Given the description of an element on the screen output the (x, y) to click on. 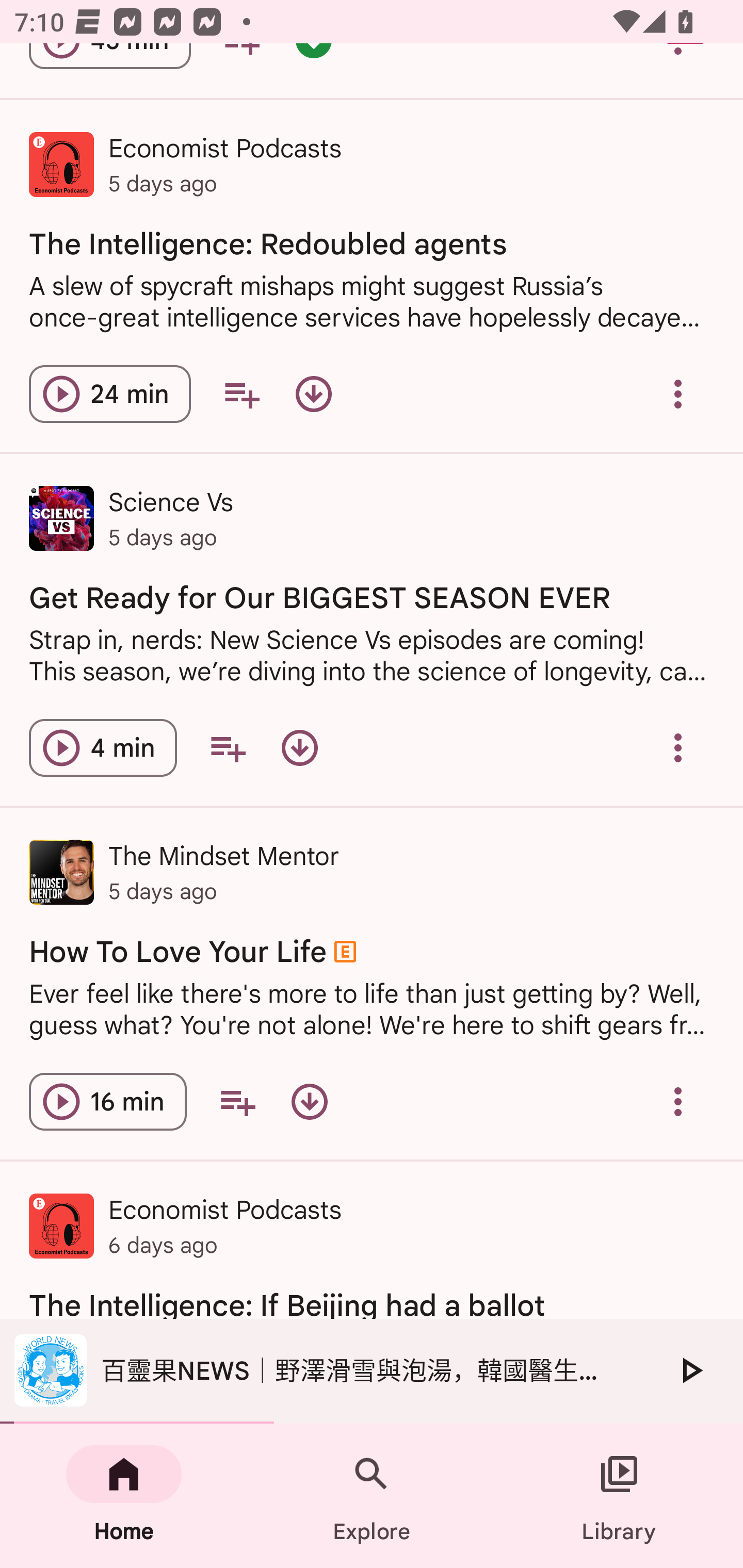
Add to your queue (241, 394)
Download episode (313, 394)
Overflow menu (677, 394)
Add to your queue (227, 747)
Download episode (299, 747)
Overflow menu (677, 747)
Play episode How To Love Your Life 16 min (107, 1101)
Add to your queue (237, 1101)
Download episode (309, 1101)
Overflow menu (677, 1101)
Play (690, 1370)
Explore (371, 1495)
Library (619, 1495)
